Given the description of an element on the screen output the (x, y) to click on. 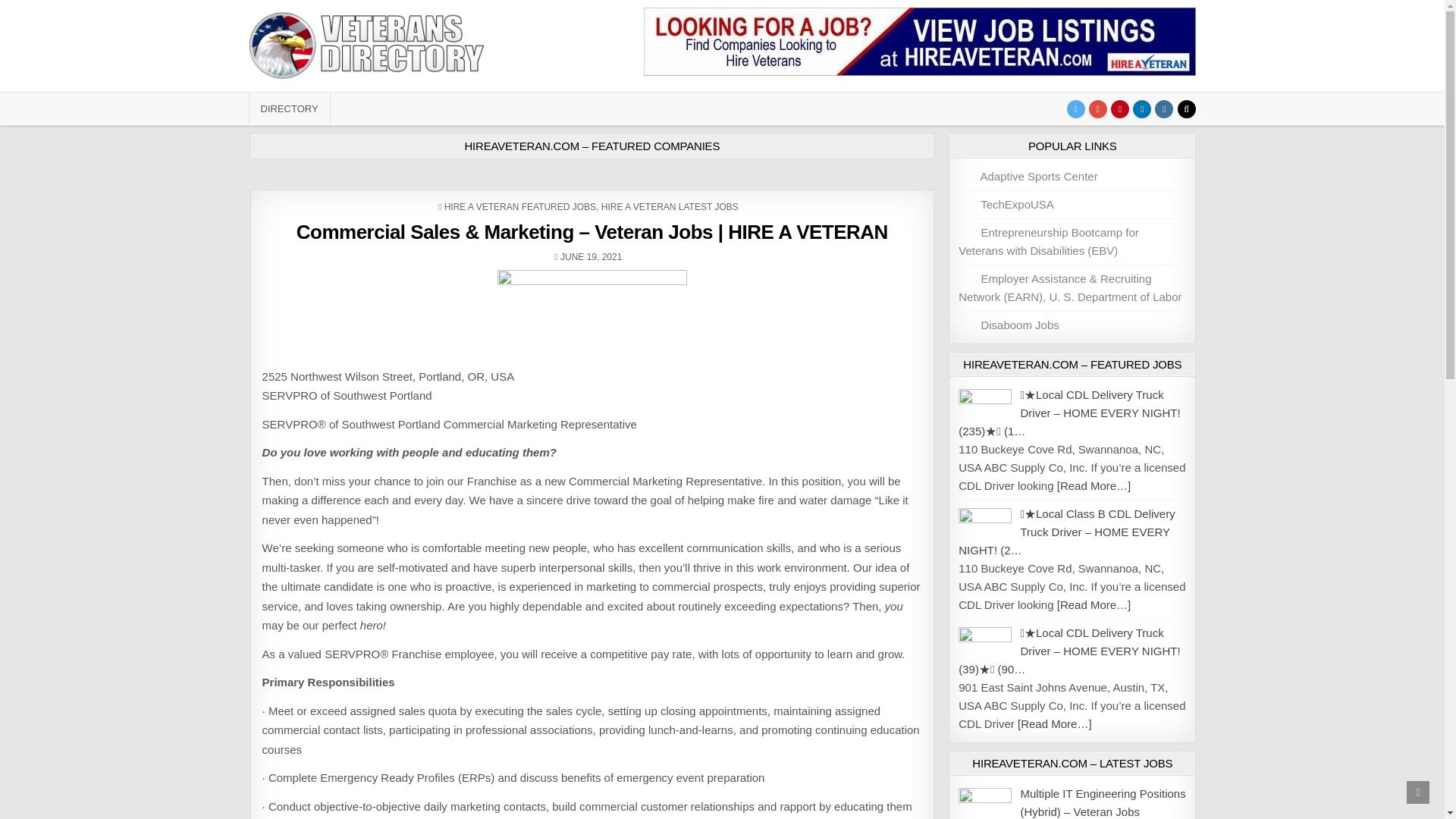
TechExpoUSA (1006, 203)
DIRECTORY (289, 108)
HIRE A VETERAN LATEST JOBS (669, 206)
Twitter (1075, 108)
HIRE A VETERAN FEATURED JOBS (519, 206)
Search (1185, 108)
Adaptive Sports Center (1027, 175)
Google Plus (1097, 108)
Linkedin (1141, 108)
Scroll to Top (1417, 792)
